Given the description of an element on the screen output the (x, y) to click on. 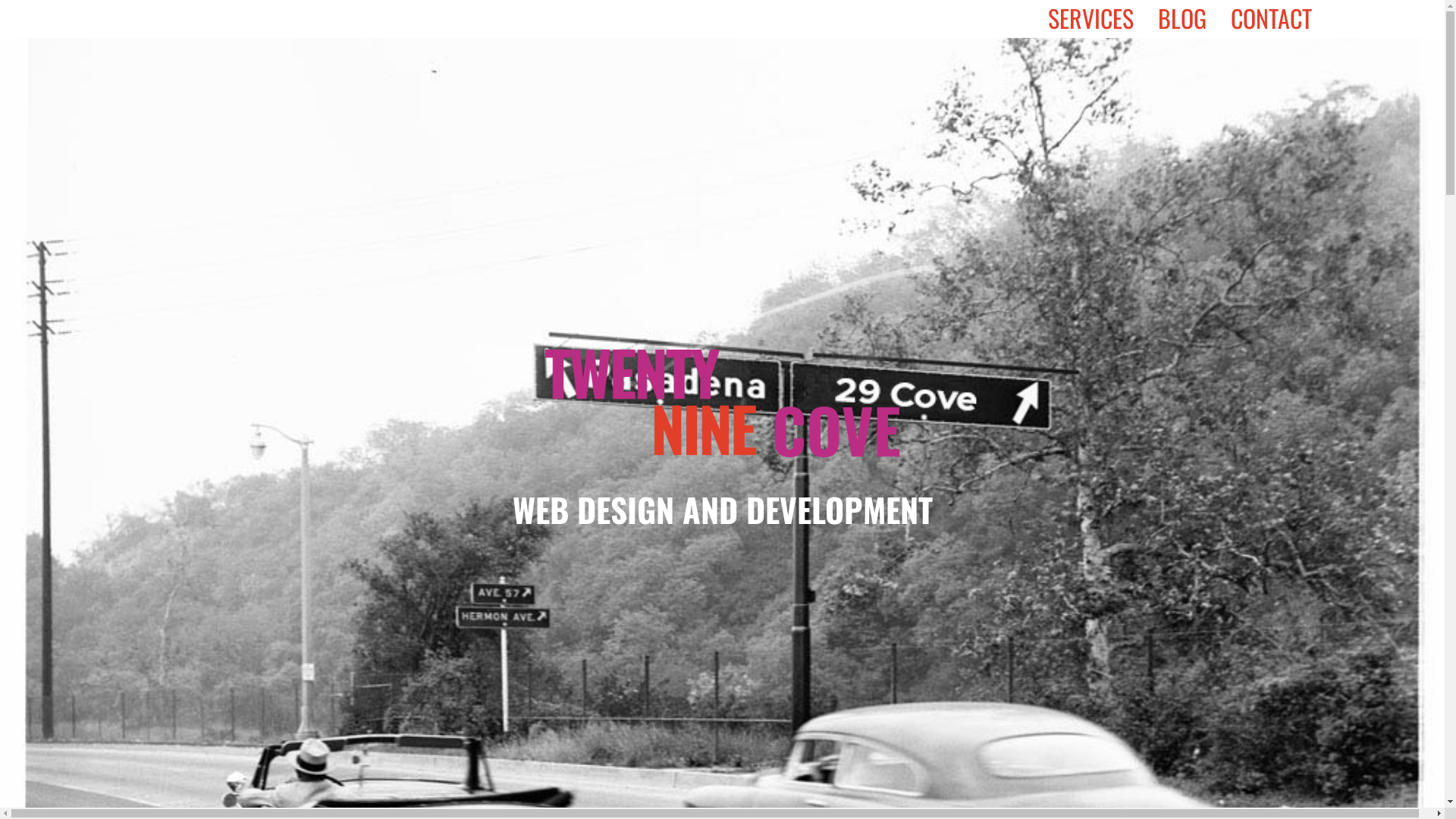
SERVICES Element type: text (1102, 18)
CONTACT Element type: text (1283, 18)
BLOG Element type: text (1193, 18)
